Given the description of an element on the screen output the (x, y) to click on. 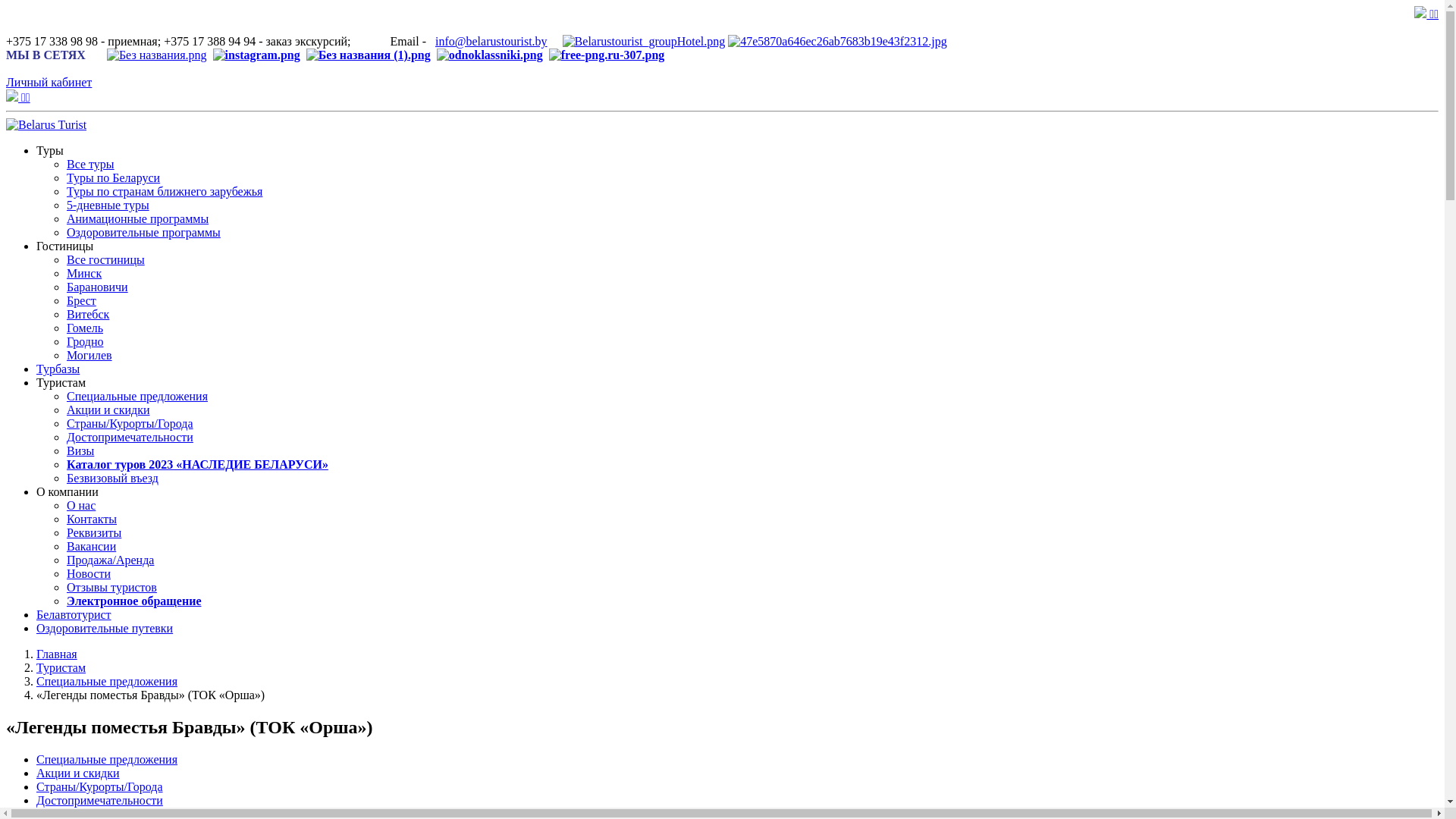
info@belarustourist.by Element type: text (491, 40)
47e5870a646ec26ab7683b19e43f2312.jpg Element type: hover (837, 41)
odnoklassniki.png Element type: hover (489, 55)
free-png.ru-307.png Element type: hover (607, 55)
instagram.png Element type: hover (256, 55)
Belarustourist_groupHotel.png Element type: hover (643, 41)
